Given the description of an element on the screen output the (x, y) to click on. 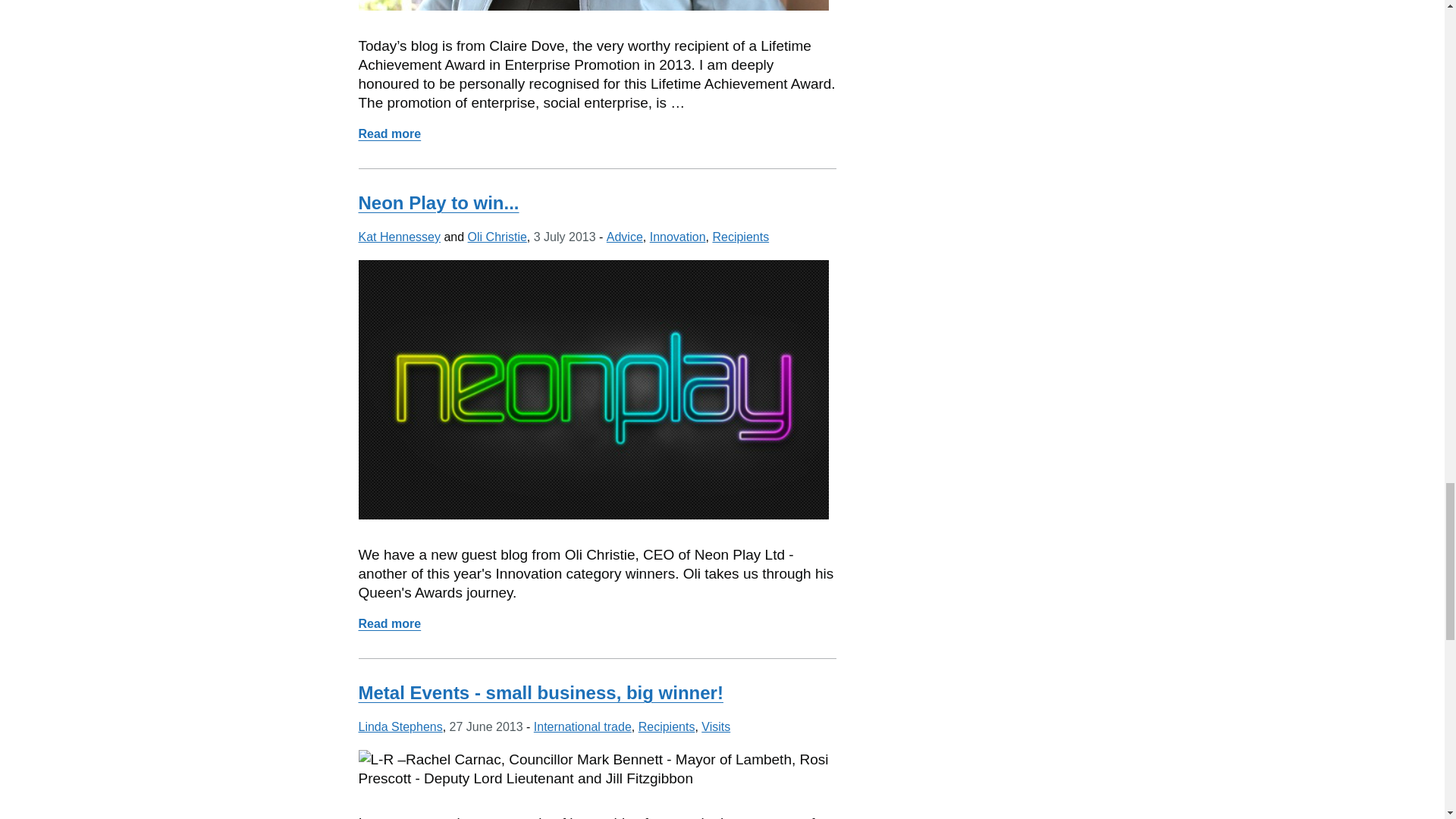
Posts by Linda Stephens (400, 726)
Posts by Oli Christie (497, 236)
Posts by Kat Hennessey (399, 236)
Neon Play to win... (438, 202)
